Given the description of an element on the screen output the (x, y) to click on. 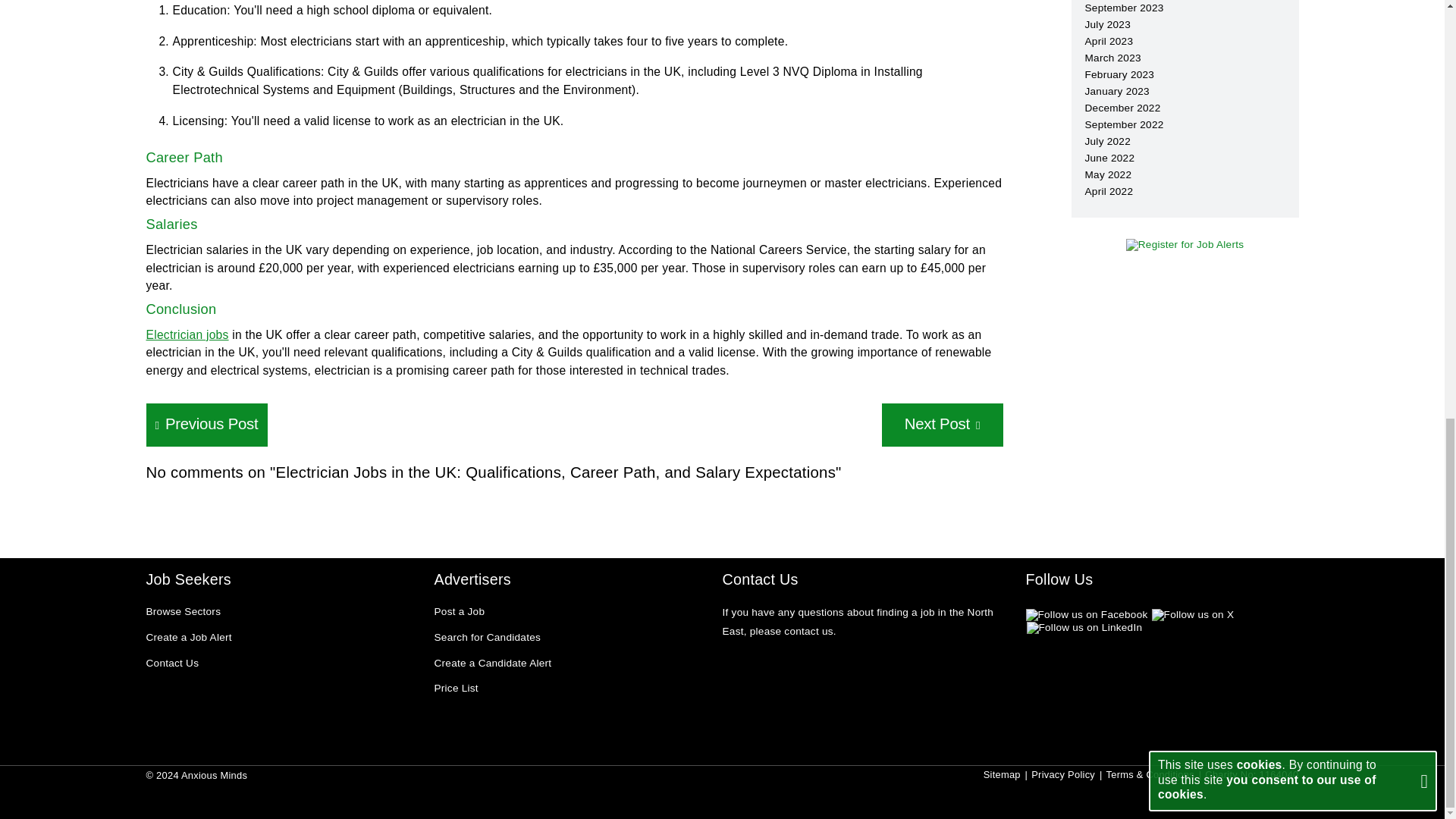
Next Post (941, 424)
Previous Post (205, 424)
Electrician jobs (186, 334)
